Given the description of an element on the screen output the (x, y) to click on. 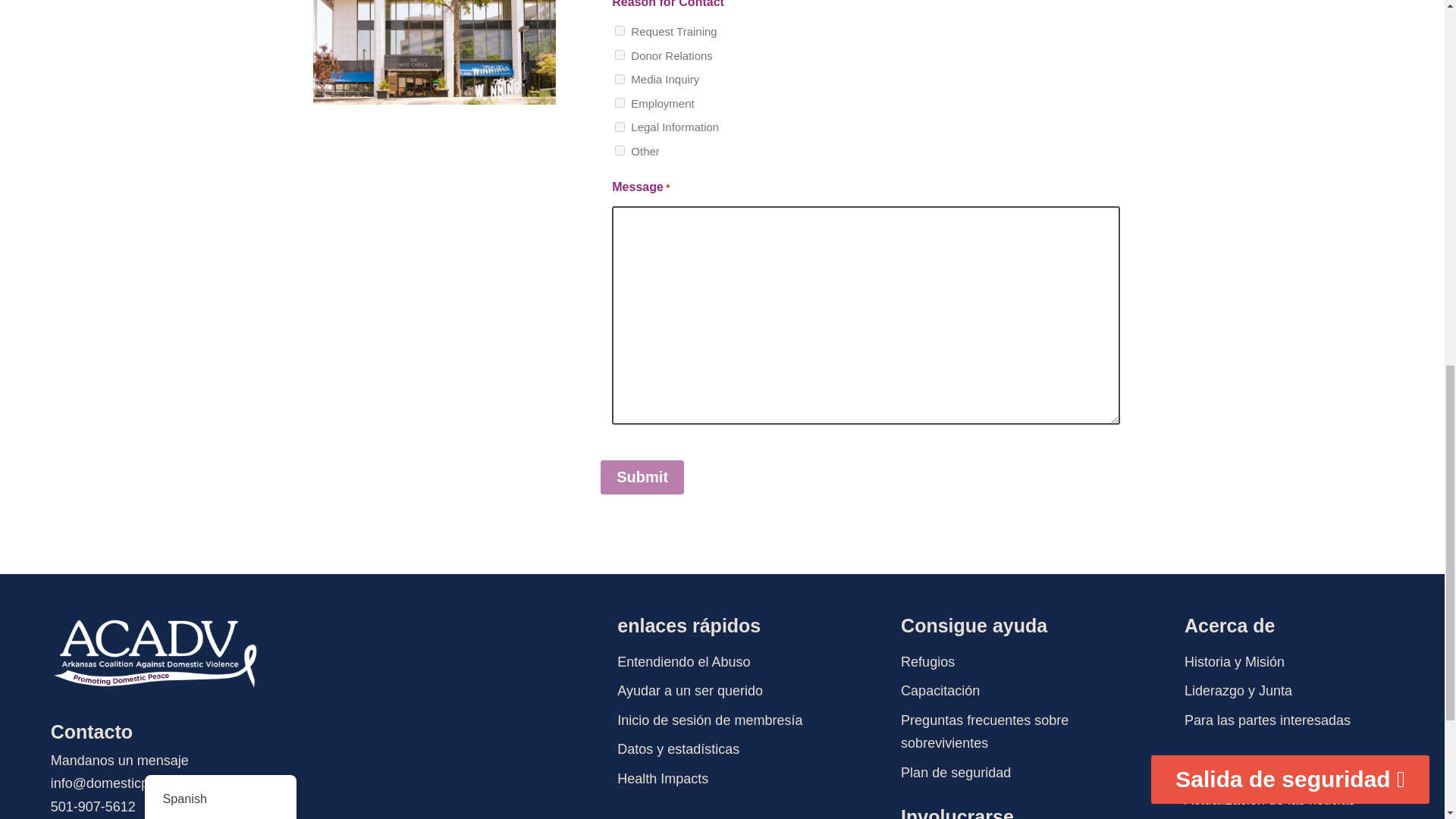
Legal Information (619, 126)
Donor Relations (619, 54)
Request Training (619, 30)
Logo ACADV 2022 blanco claro (155, 653)
Employment (619, 102)
Media Inquiry (619, 79)
Submit (641, 477)
outside-of-office-building (433, 52)
Other (619, 150)
